Given the description of an element on the screen output the (x, y) to click on. 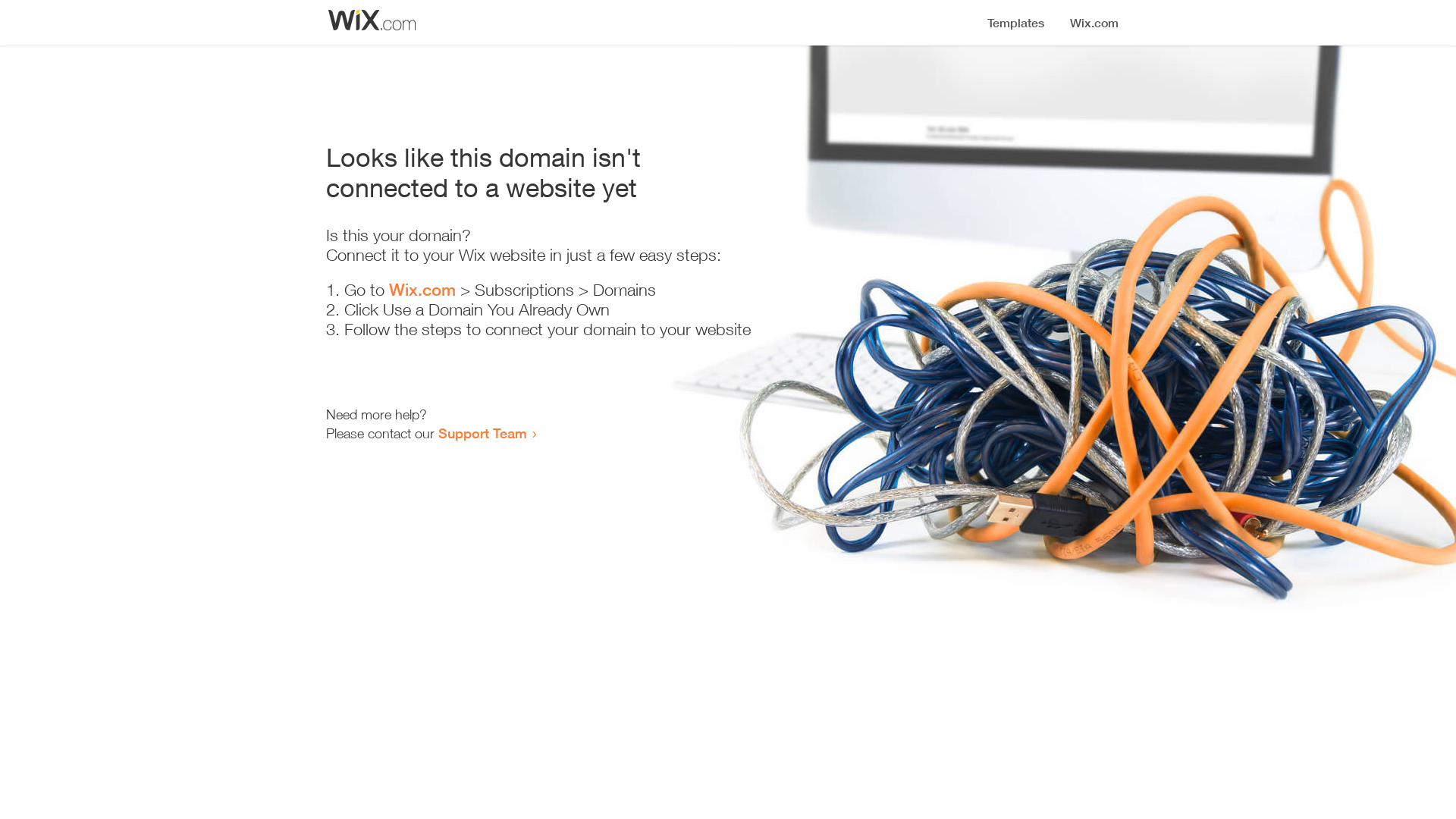
Support Team Element type: text (482, 432)
Wix.com Element type: text (422, 289)
